Given the description of an element on the screen output the (x, y) to click on. 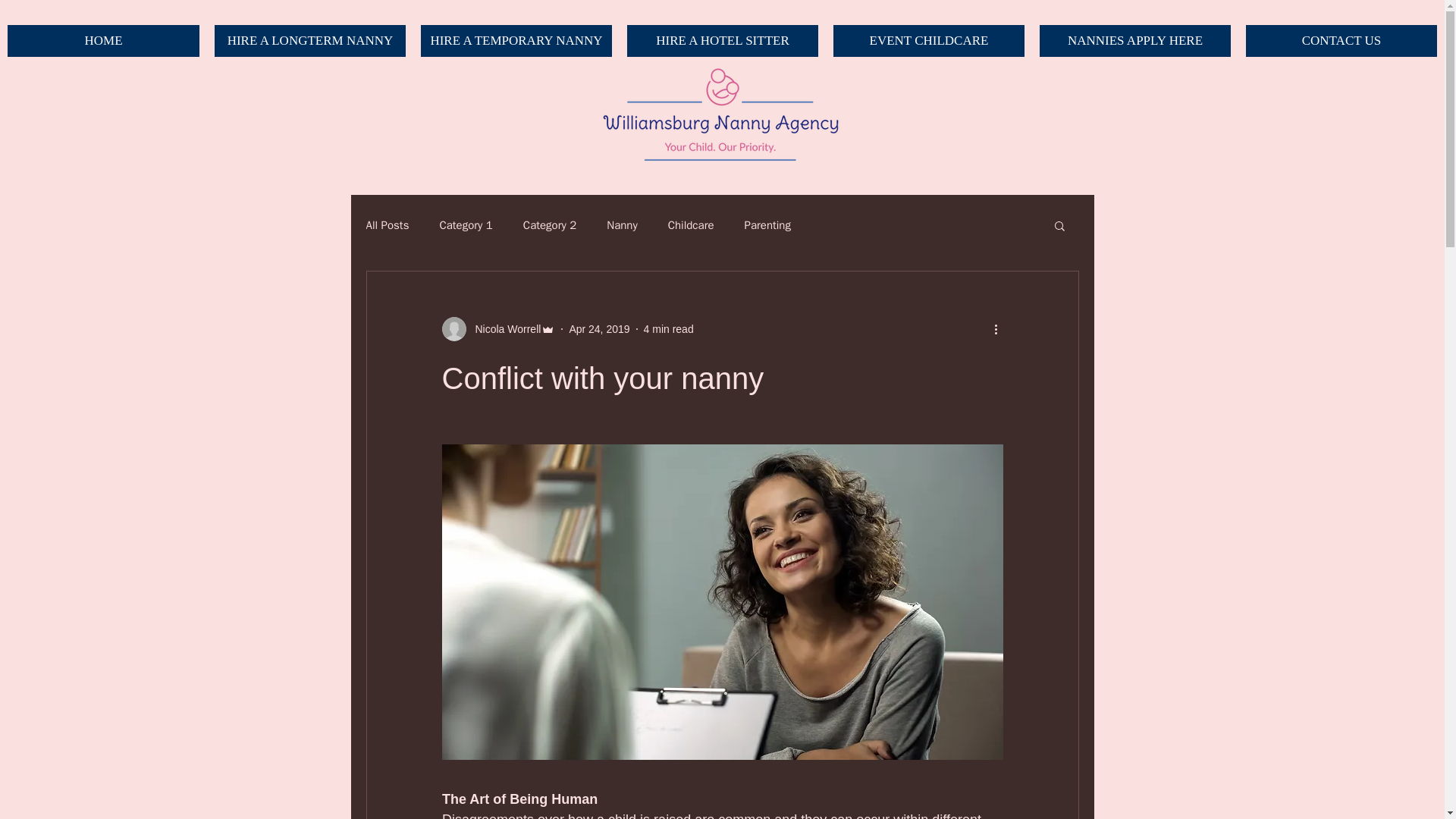
Nanny (622, 225)
HIRE A TEMPORARY NANNY (515, 40)
Category 1 (465, 225)
HOME (103, 40)
HIRE A LONGTERM NANNY (310, 40)
Nicola Worrell (502, 329)
Parenting (767, 225)
Category 2 (549, 225)
CONTACT US (1341, 40)
Childcare (691, 225)
